Given the description of an element on the screen output the (x, y) to click on. 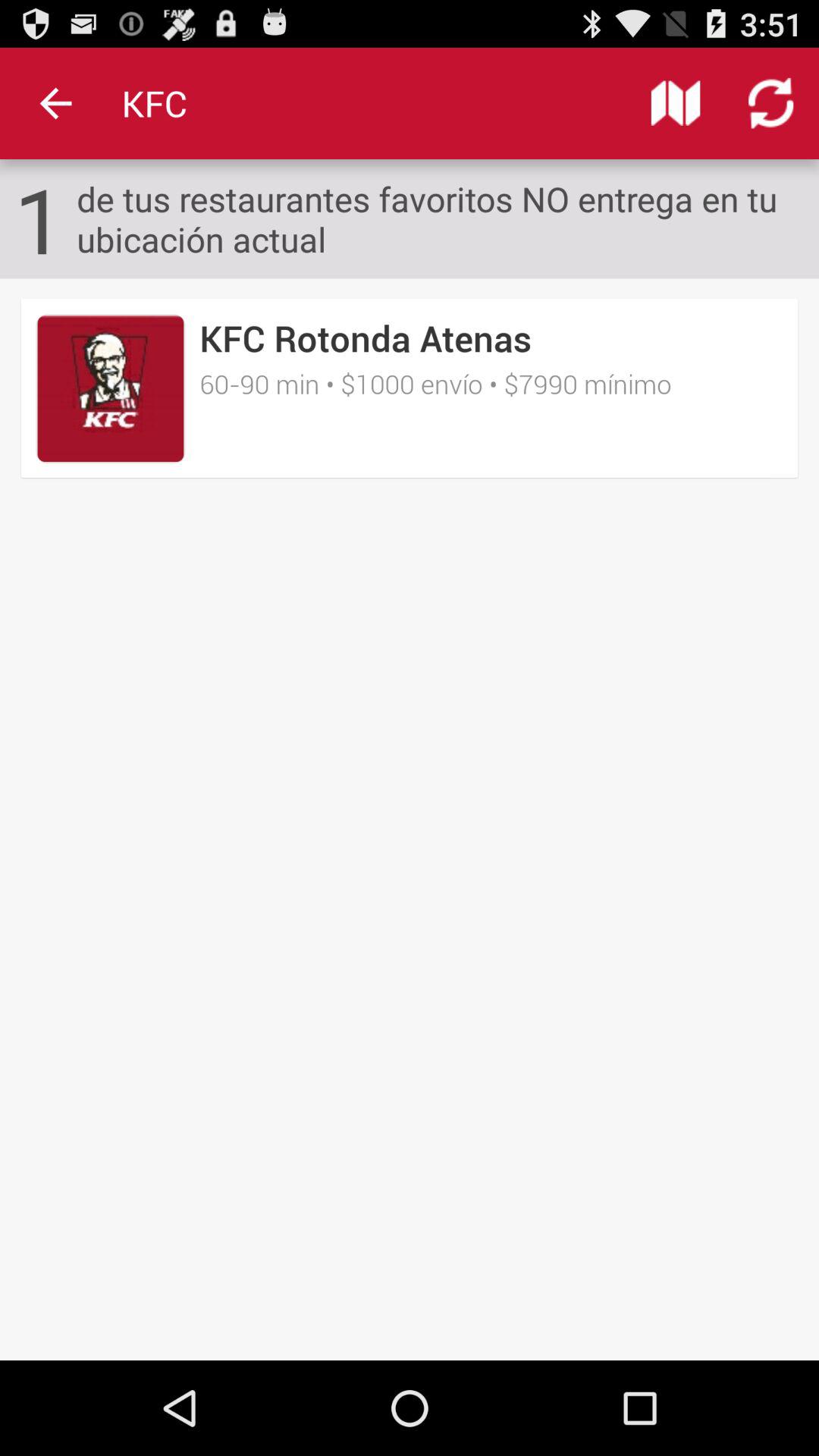
turn on de tus restaurantes item (447, 218)
